Given the description of an element on the screen output the (x, y) to click on. 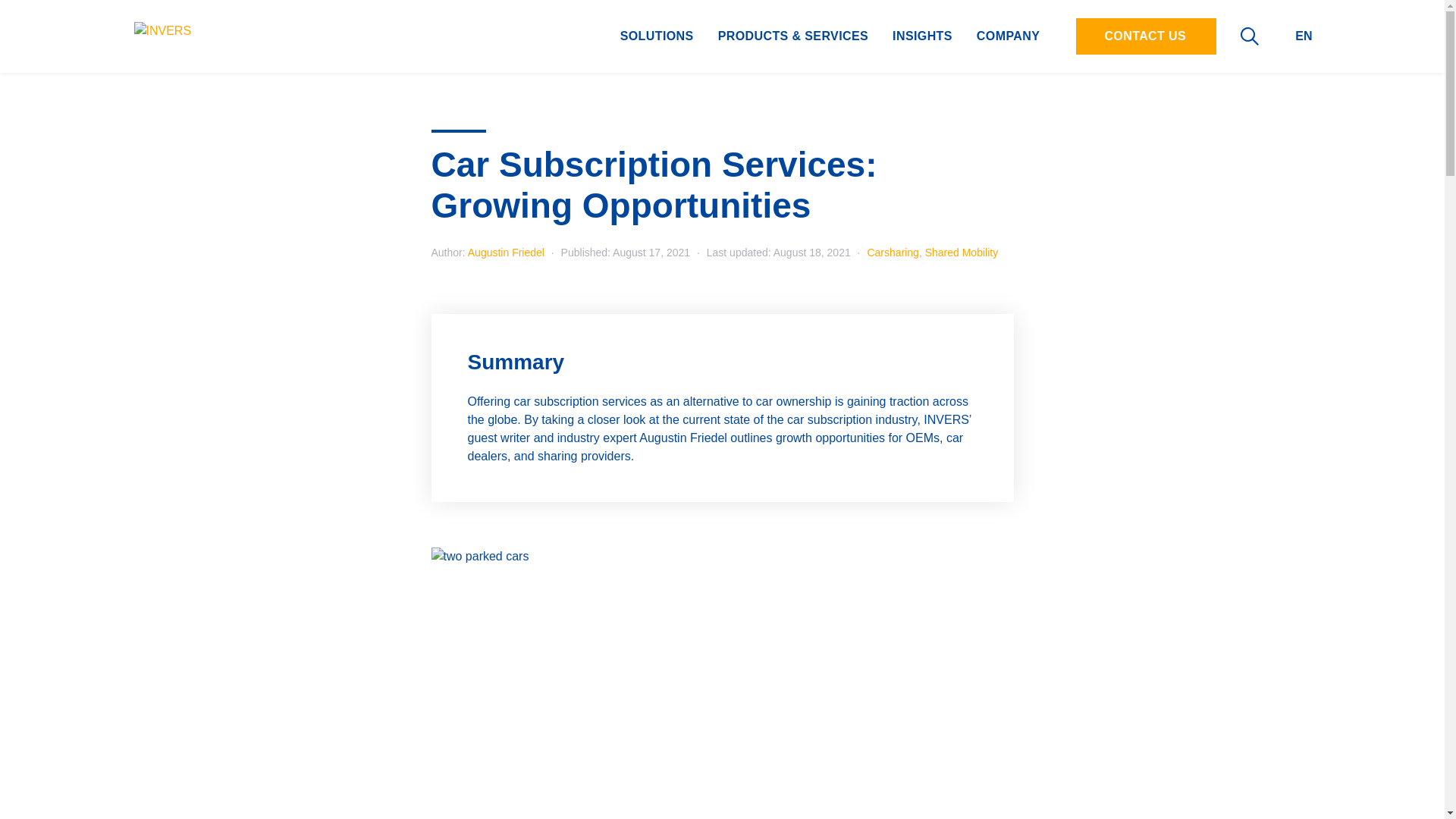
CONTACT US (1145, 36)
